Given the description of an element on the screen output the (x, y) to click on. 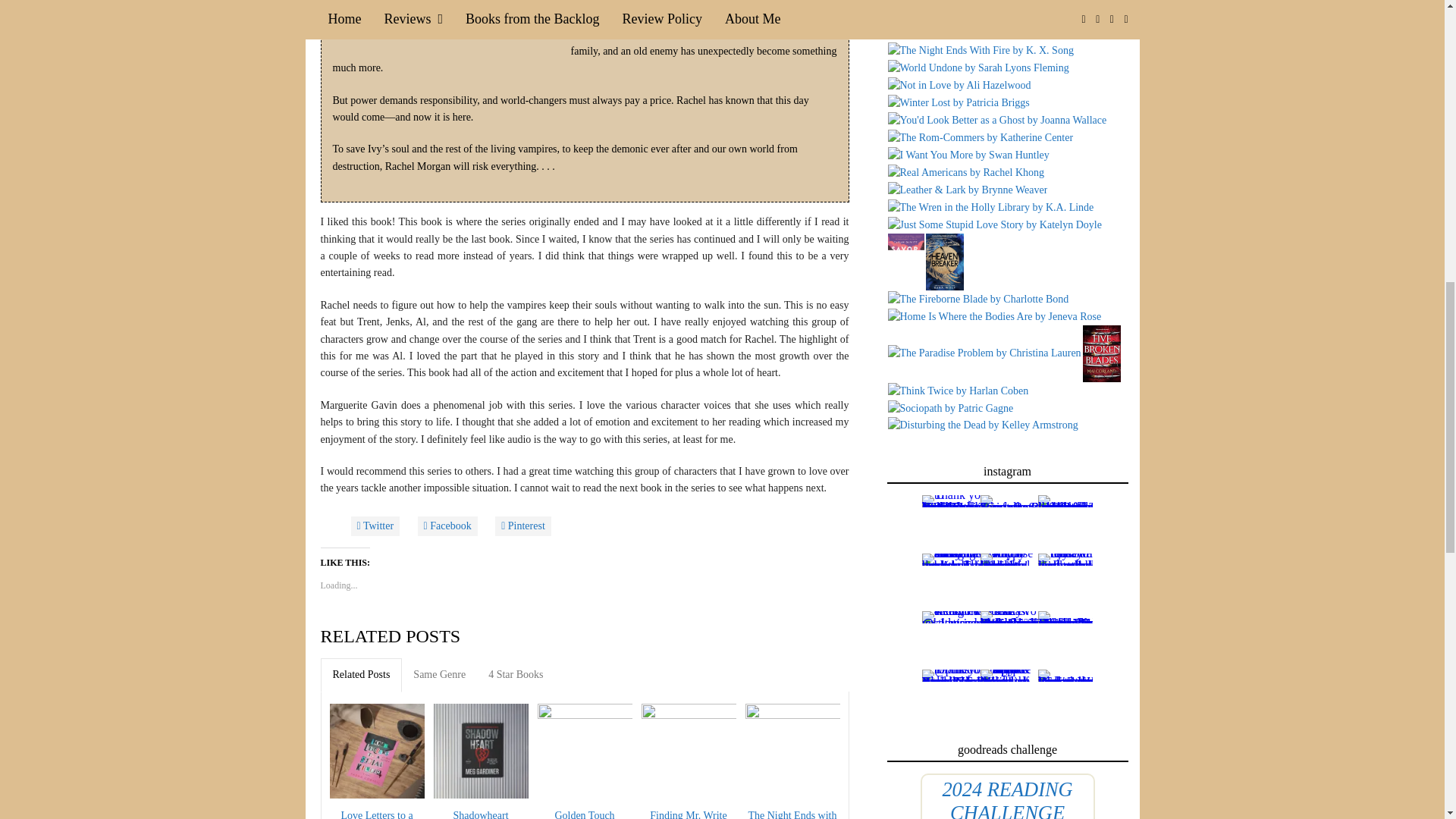
Related Posts (361, 675)
Same Genre (439, 675)
Pinterest (523, 526)
4 Star Books (515, 675)
Twitter (374, 526)
Facebook (447, 526)
